Given the description of an element on the screen output the (x, y) to click on. 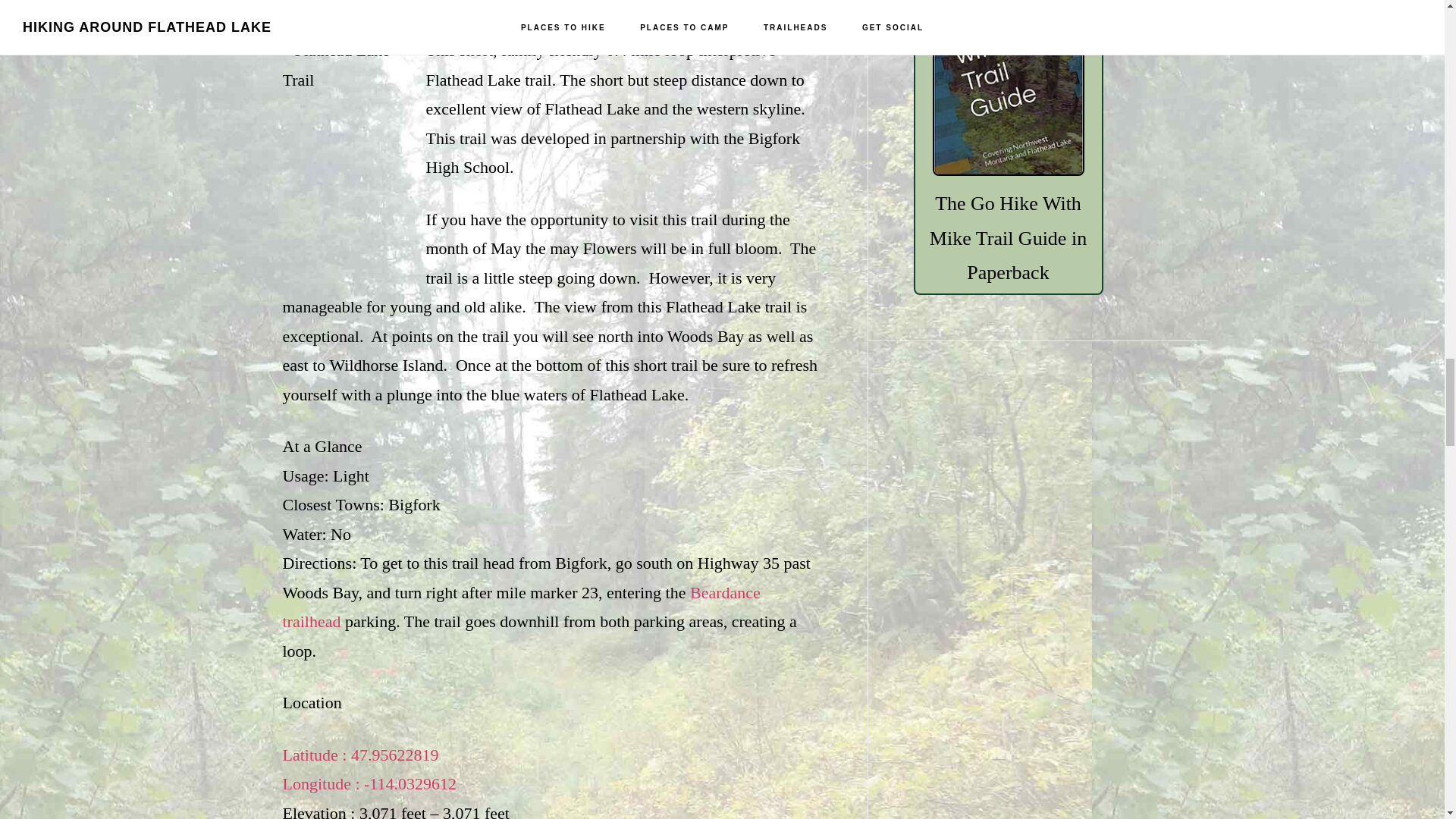
YouTube player (551, 18)
Beardance trailhead (369, 769)
